Given the description of an element on the screen output the (x, y) to click on. 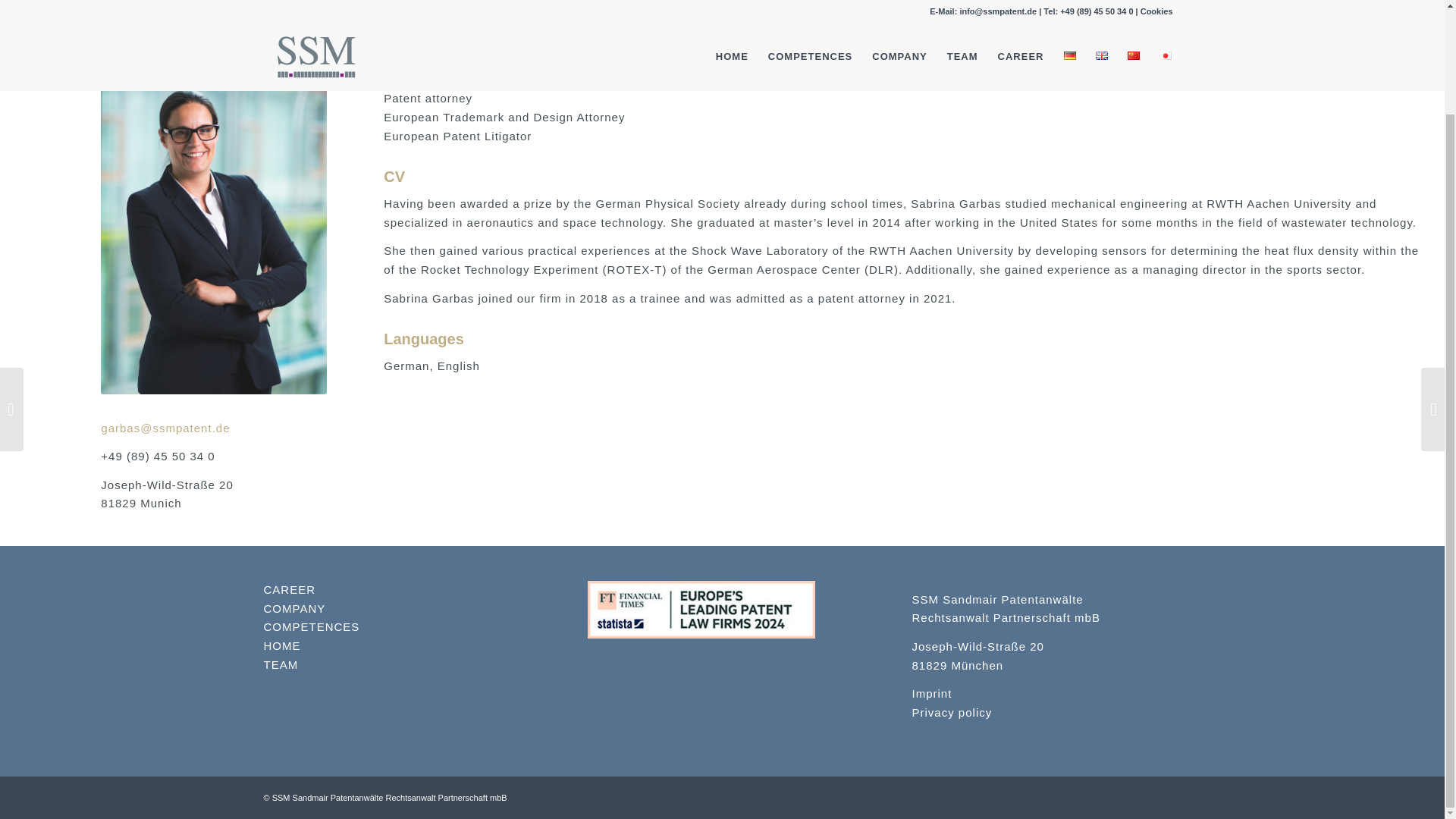
Privacy policy (952, 712)
COMPANY (294, 608)
COMPETENCES (311, 626)
HOME (282, 645)
TEAM (280, 664)
Imprint (932, 693)
CAREER (289, 589)
